Given the description of an element on the screen output the (x, y) to click on. 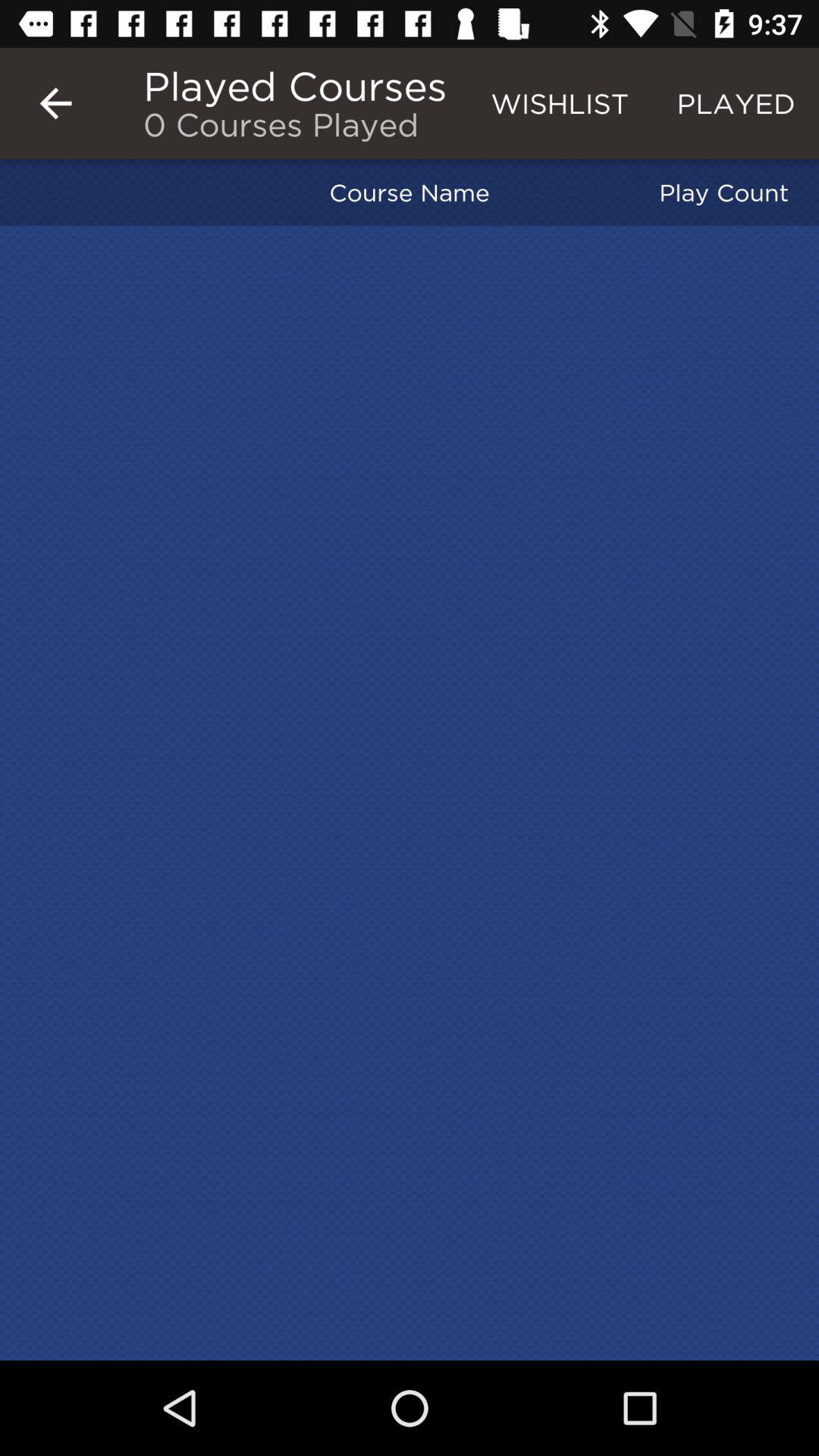
jump to the wishlist icon (559, 103)
